Given the description of an element on the screen output the (x, y) to click on. 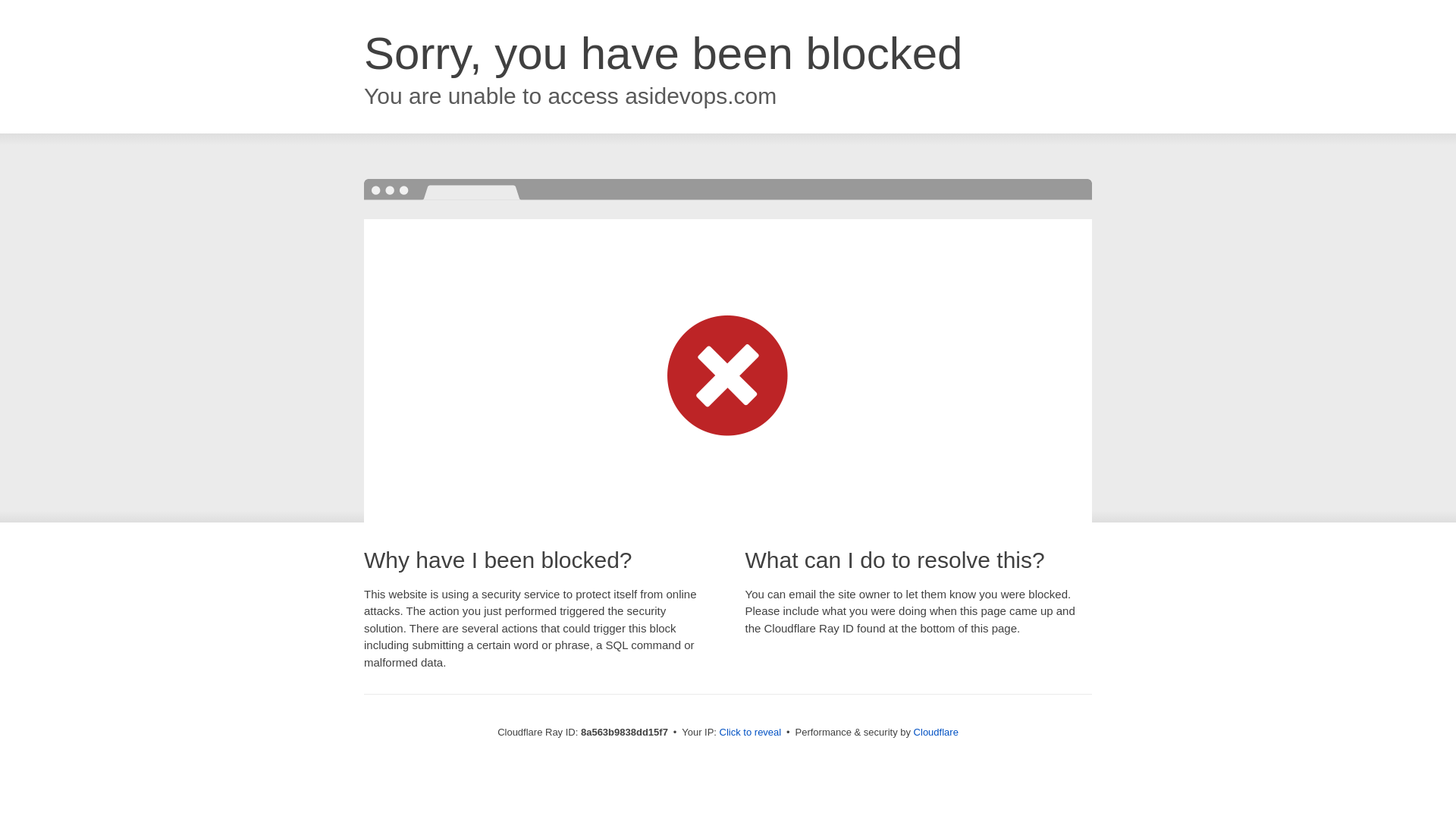
Click to reveal (750, 732)
Cloudflare (936, 731)
